Given the description of an element on the screen output the (x, y) to click on. 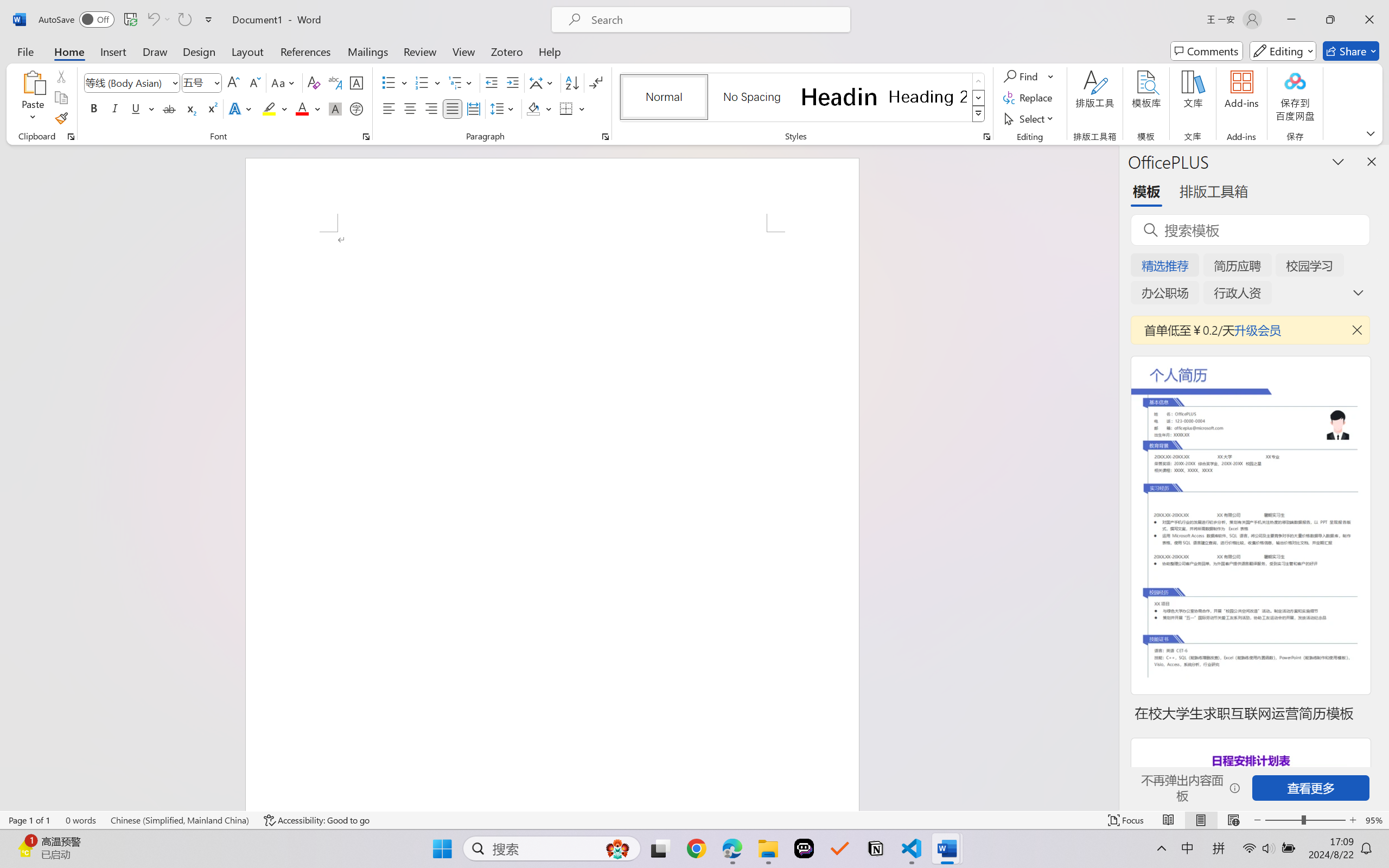
Can't Undo (158, 19)
